Given the description of an element on the screen output the (x, y) to click on. 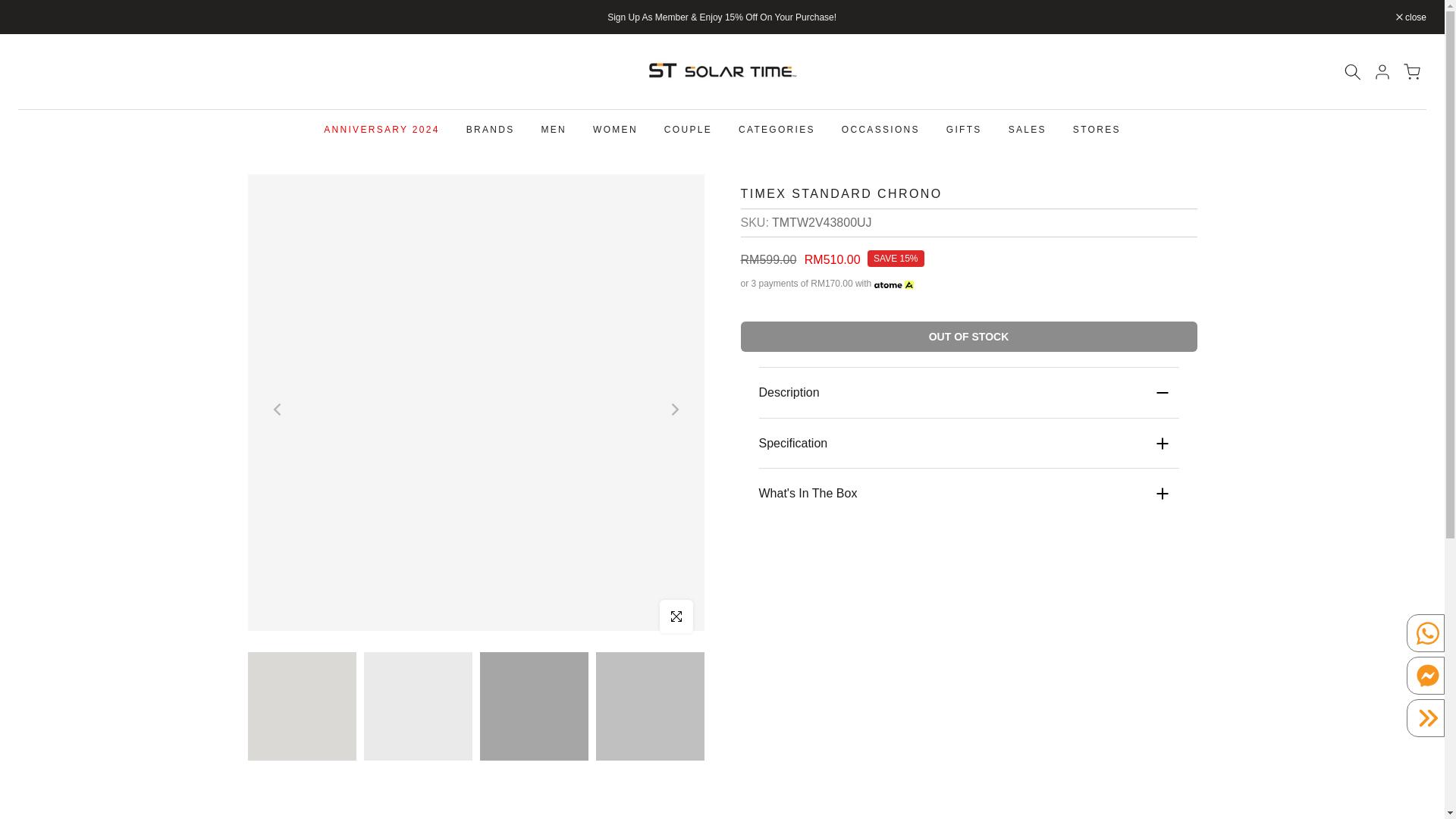
COUPLE (687, 129)
STORES (1096, 129)
SALES (1026, 129)
CATEGORIES (776, 129)
WOMEN (614, 129)
GIFTS (963, 129)
BRANDS (489, 129)
close (1411, 16)
MEN (553, 129)
ANNIVERSARY 2024 (381, 129)
